Given the description of an element on the screen output the (x, y) to click on. 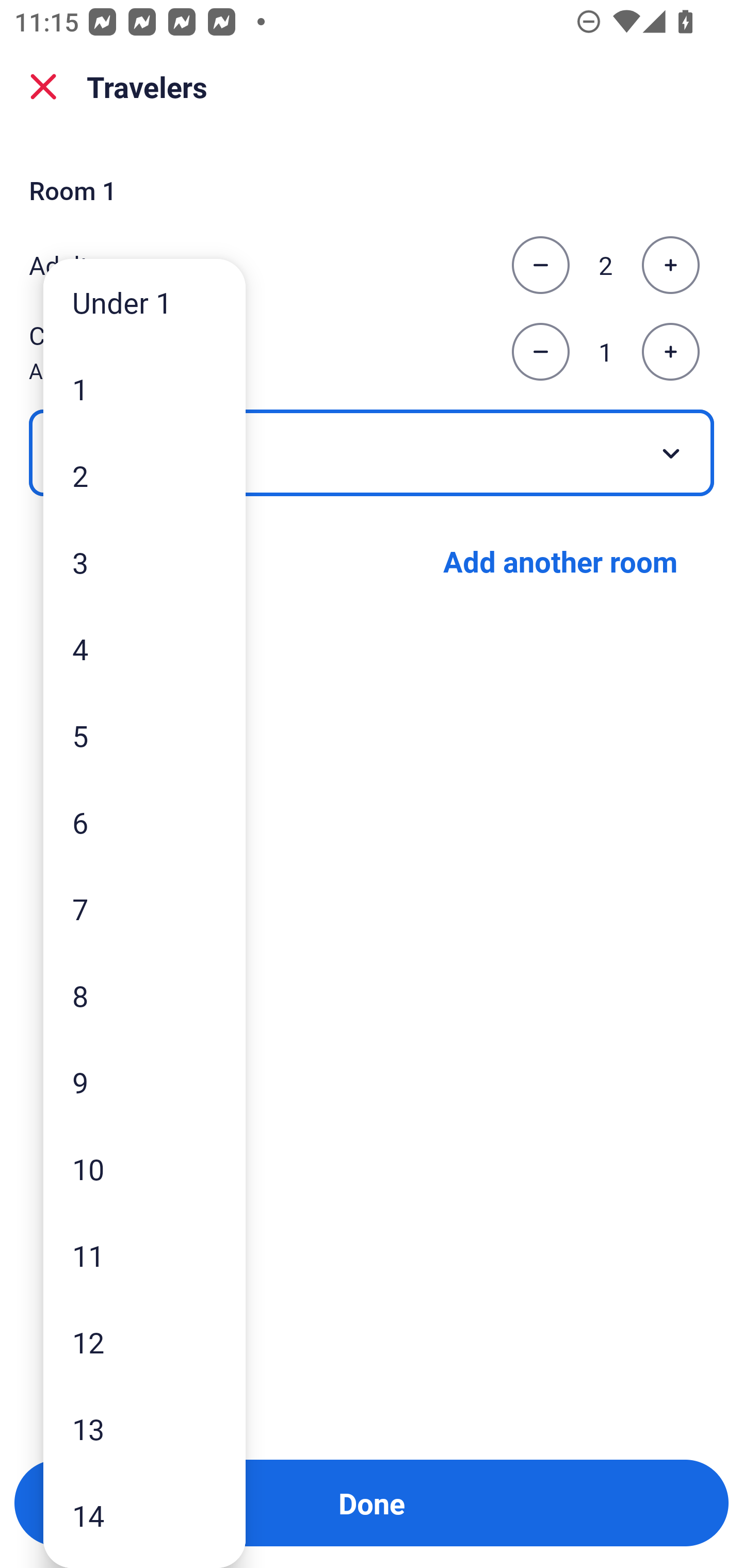
Under 1 (144, 301)
1 (144, 388)
2 (144, 475)
3 (144, 562)
4 (144, 648)
5 (144, 735)
6 (144, 822)
7 (144, 908)
8 (144, 994)
9 (144, 1081)
10 (144, 1168)
11 (144, 1255)
12 (144, 1342)
13 (144, 1429)
14 (144, 1515)
